Given the description of an element on the screen output the (x, y) to click on. 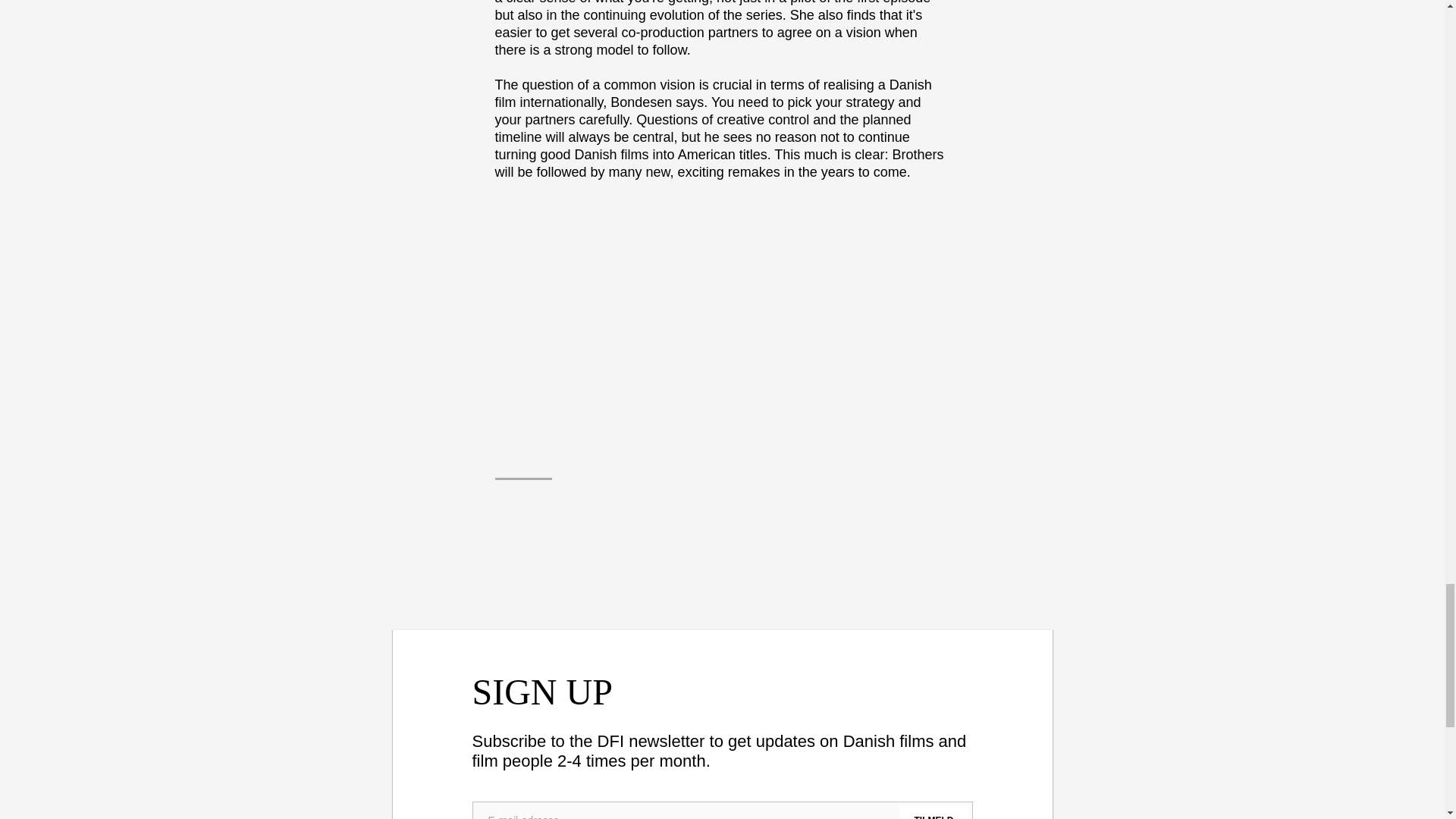
Tilmeld (934, 812)
